Given the description of an element on the screen output the (x, y) to click on. 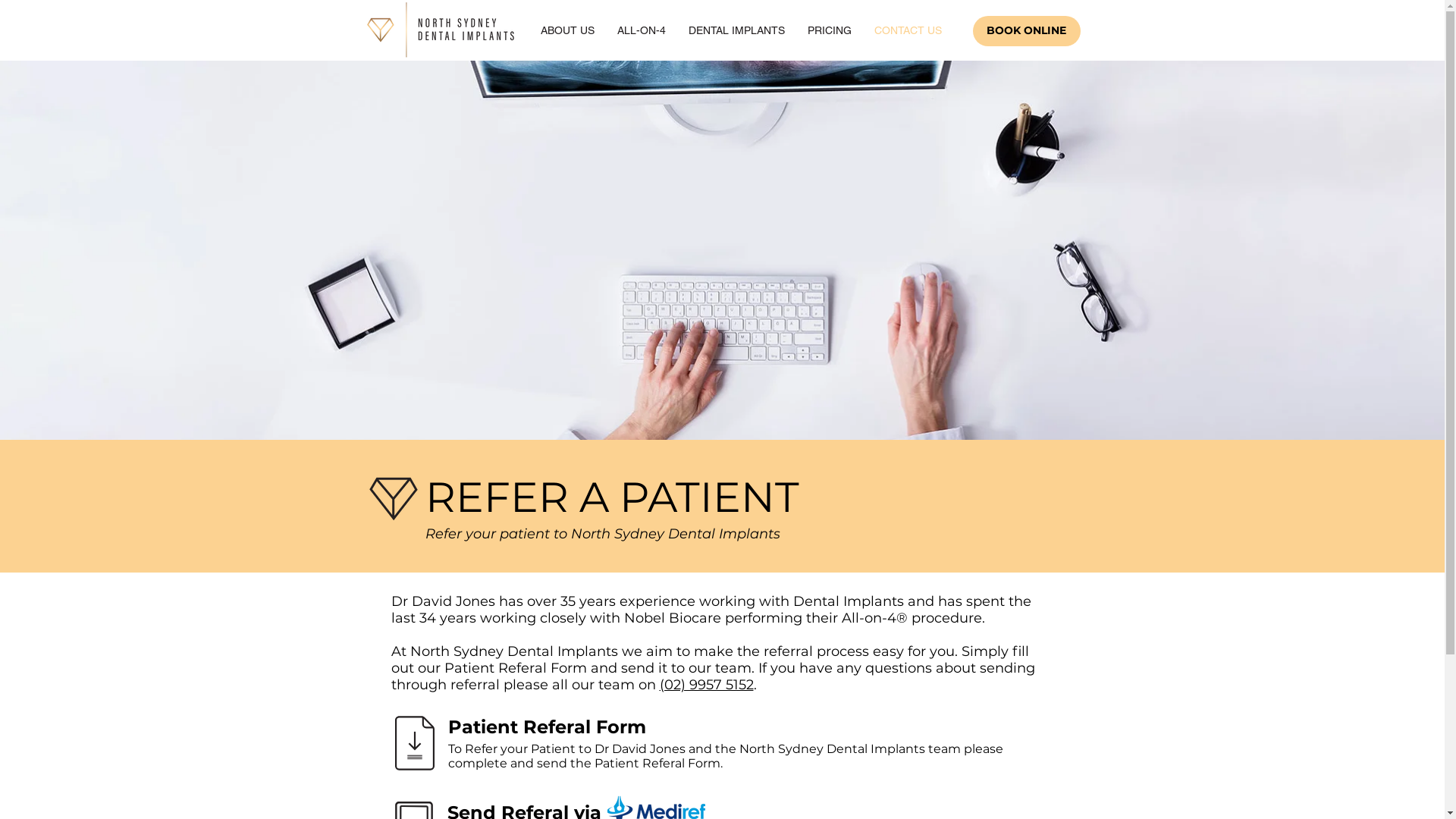
PRICING Element type: text (829, 30)
BOOK ONLINE Element type: text (1025, 30)
CONTACT US Element type: text (907, 30)
ALL-ON-4 Element type: text (641, 30)
ABOUT US Element type: text (567, 30)
(02) 9957 5152 Element type: text (706, 684)
DENTAL IMPLANTS Element type: text (736, 30)
